Given the description of an element on the screen output the (x, y) to click on. 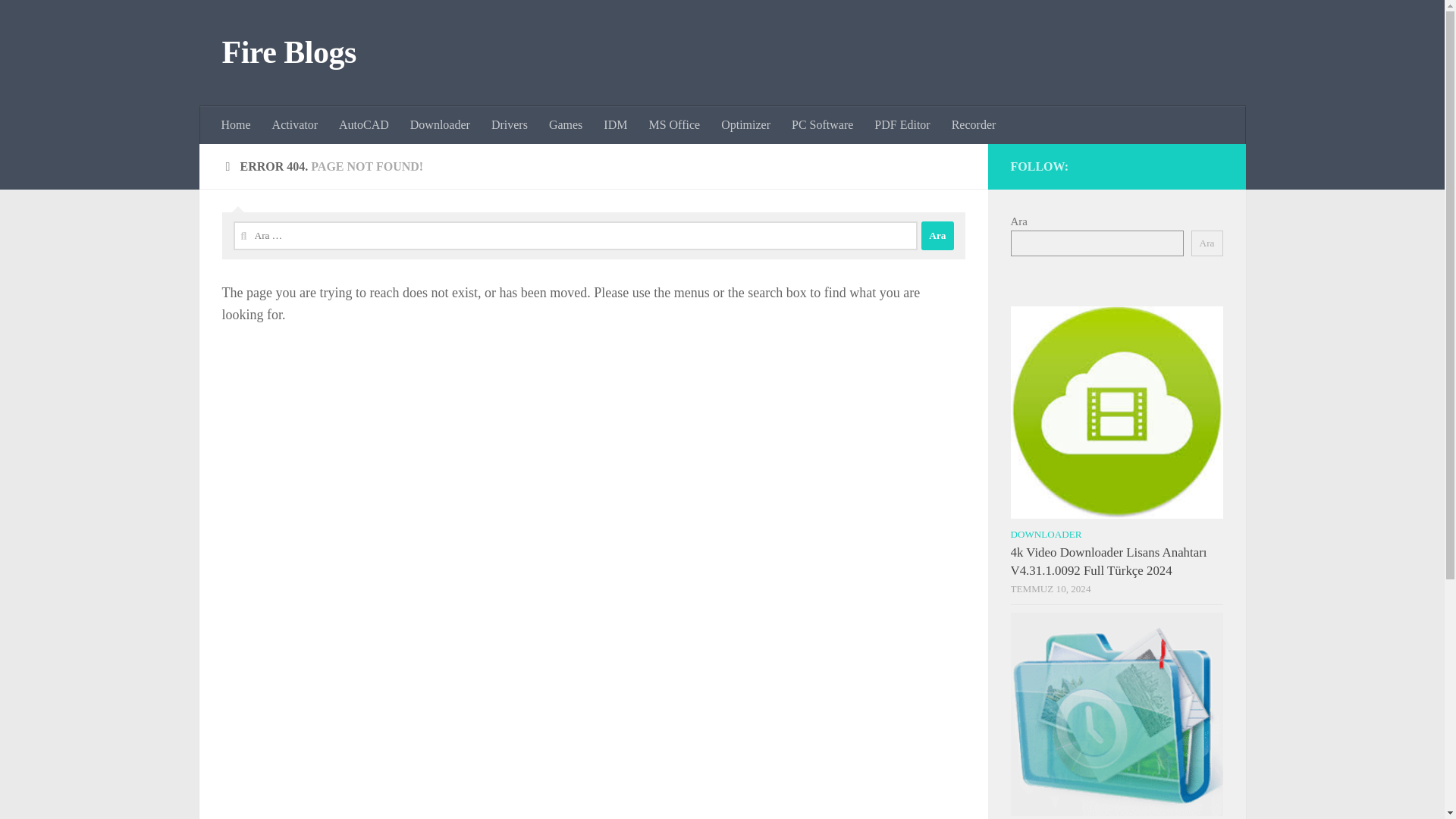
Games (565, 125)
Activator (295, 125)
Drivers (509, 125)
Recorder (973, 125)
MS Office (673, 125)
IDM (614, 125)
Ara (1207, 243)
AutoCAD (363, 125)
Downloader (439, 125)
DOWNLOADER (1045, 533)
Ara (937, 235)
PDF Editor (901, 125)
Home (236, 125)
Ara (937, 235)
Optimizer (745, 125)
